Given the description of an element on the screen output the (x, y) to click on. 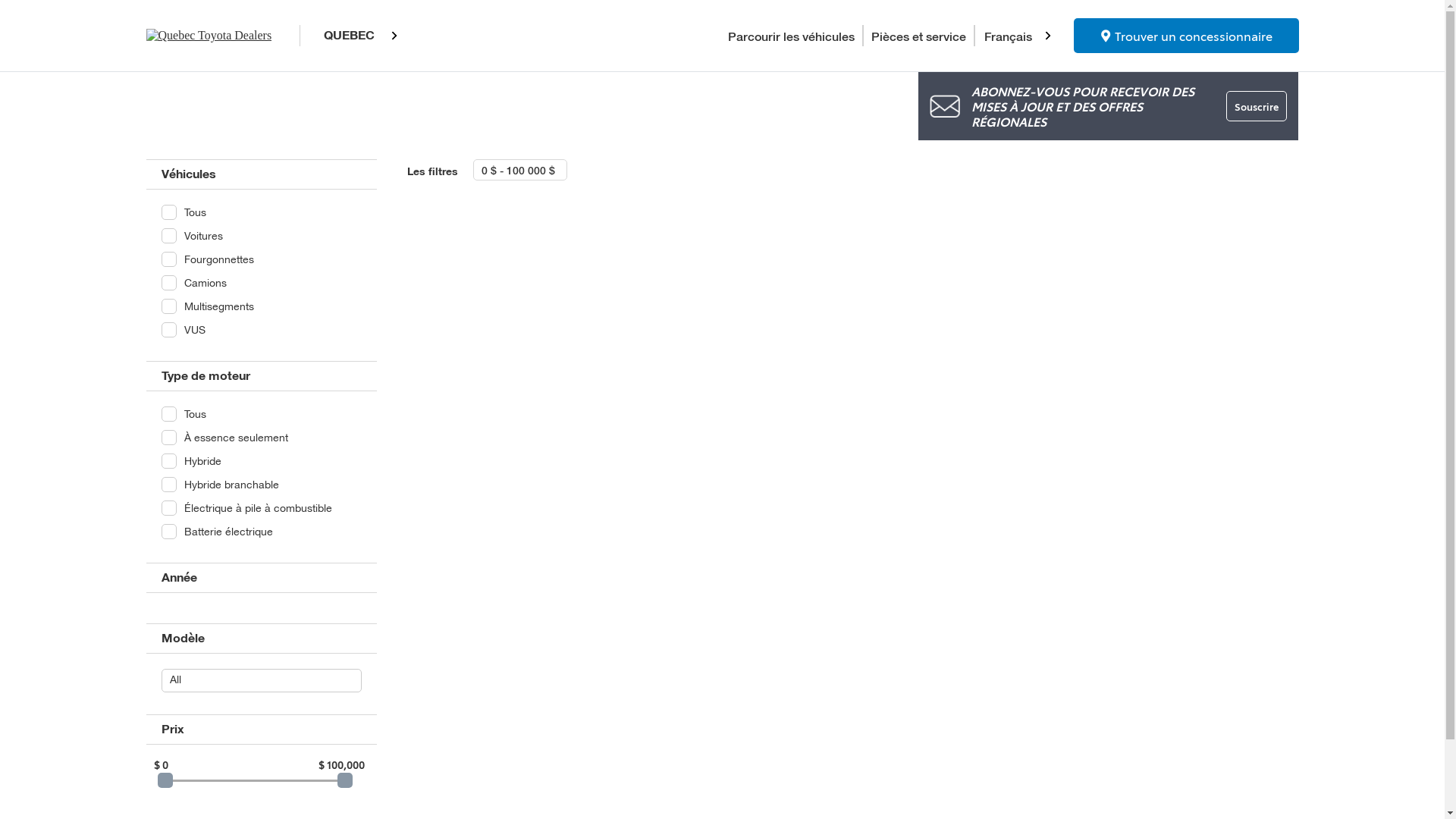
QUEBEC Element type: text (356, 35)
Souscrire Element type: text (1256, 106)
Trouver un concessionnaire Element type: text (1186, 35)
